Given the description of an element on the screen output the (x, y) to click on. 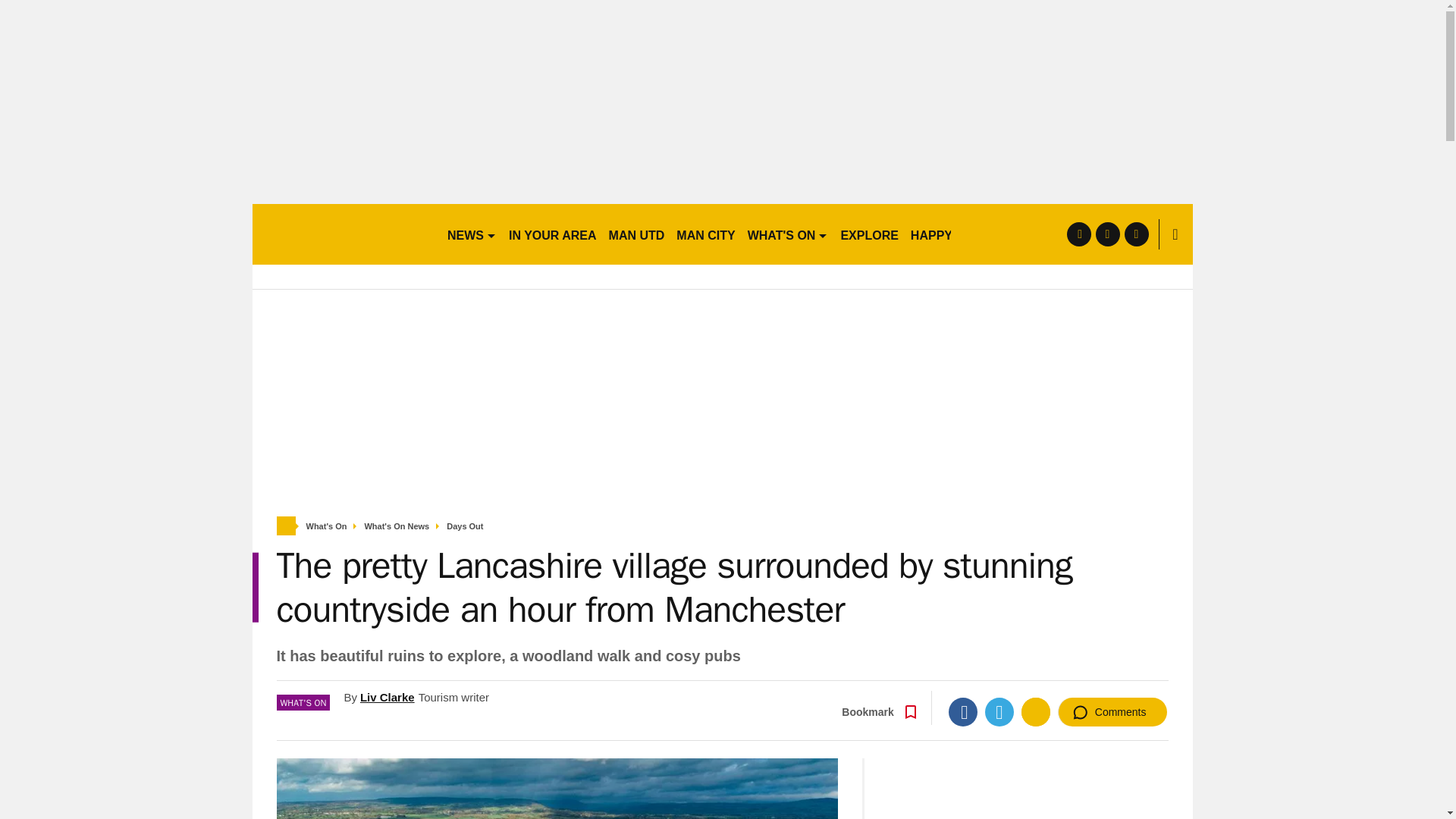
MAN UTD (636, 233)
Comments (1112, 711)
IN YOUR AREA (552, 233)
MAN CITY (705, 233)
facebook (1077, 233)
instagram (1136, 233)
men (342, 233)
WHAT'S ON (787, 233)
NEWS (471, 233)
twitter (1106, 233)
